Given the description of an element on the screen output the (x, y) to click on. 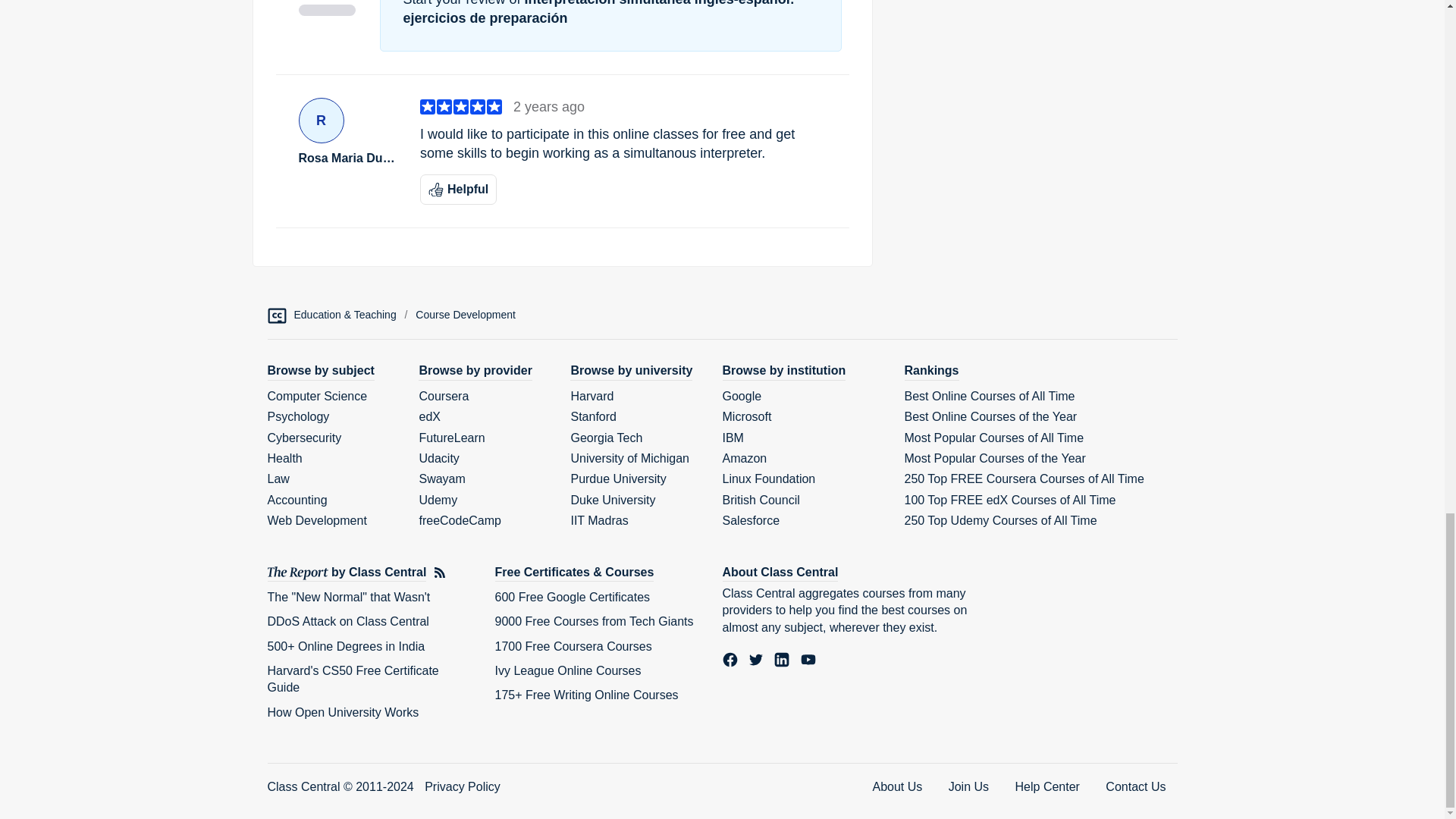
Rosa Maria Duran   (347, 158)
Free Courses and Certificates (574, 572)
1700 Free Coursera Courses (572, 645)
9000 Free Courses from Tech Giants (594, 621)
The "New Normal" that Wasn't (347, 596)
Harvard's CS50 Free Certificate Guide (352, 678)
DDoS Attack on Class Central (347, 621)
How Open University Works (342, 712)
Ivy League Online Courses (567, 670)
600 Free Google Certificates (572, 596)
